Given the description of an element on the screen output the (x, y) to click on. 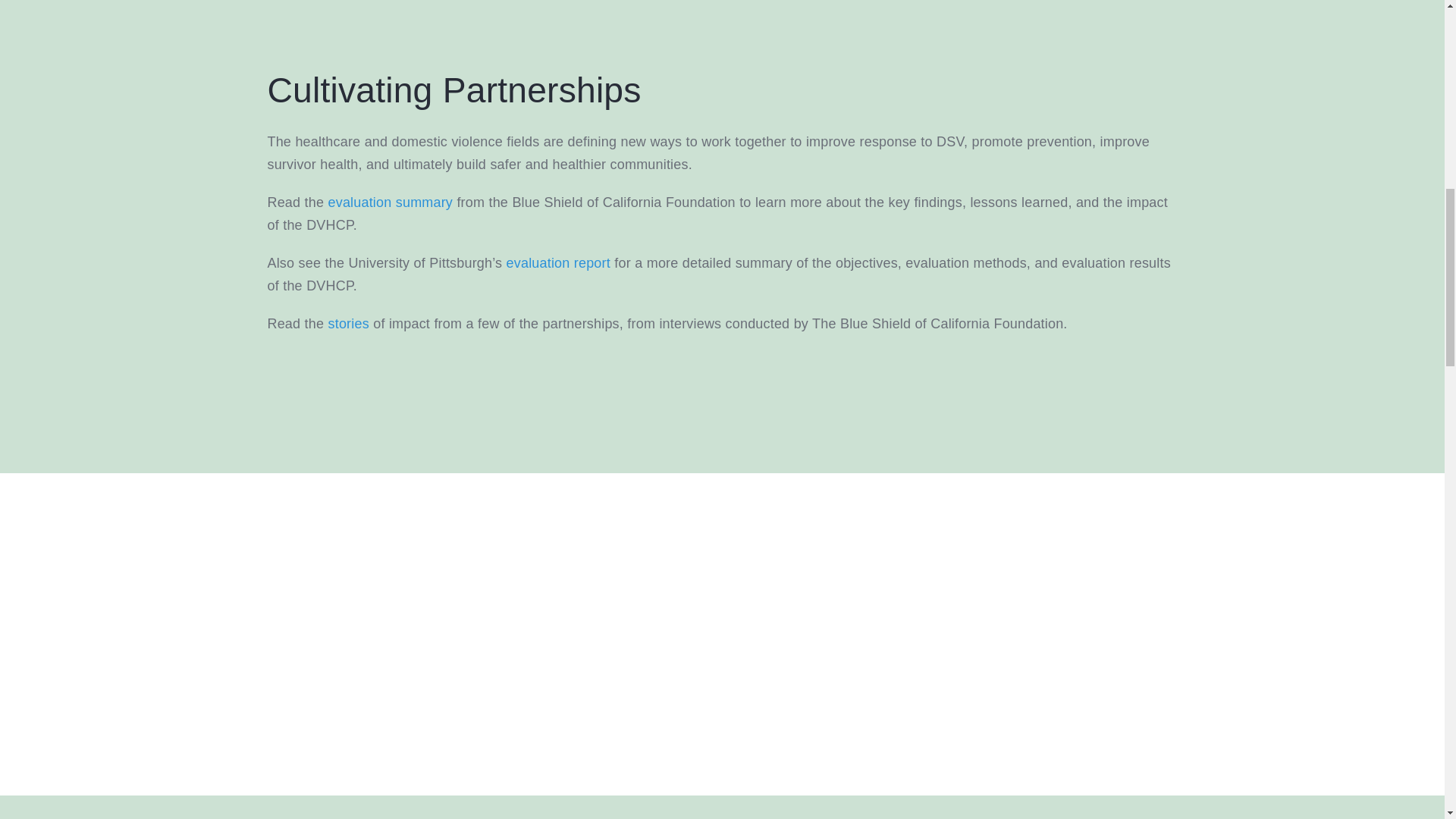
evaluation report (558, 263)
stories (349, 323)
evaluation summary (390, 201)
